Given the description of an element on the screen output the (x, y) to click on. 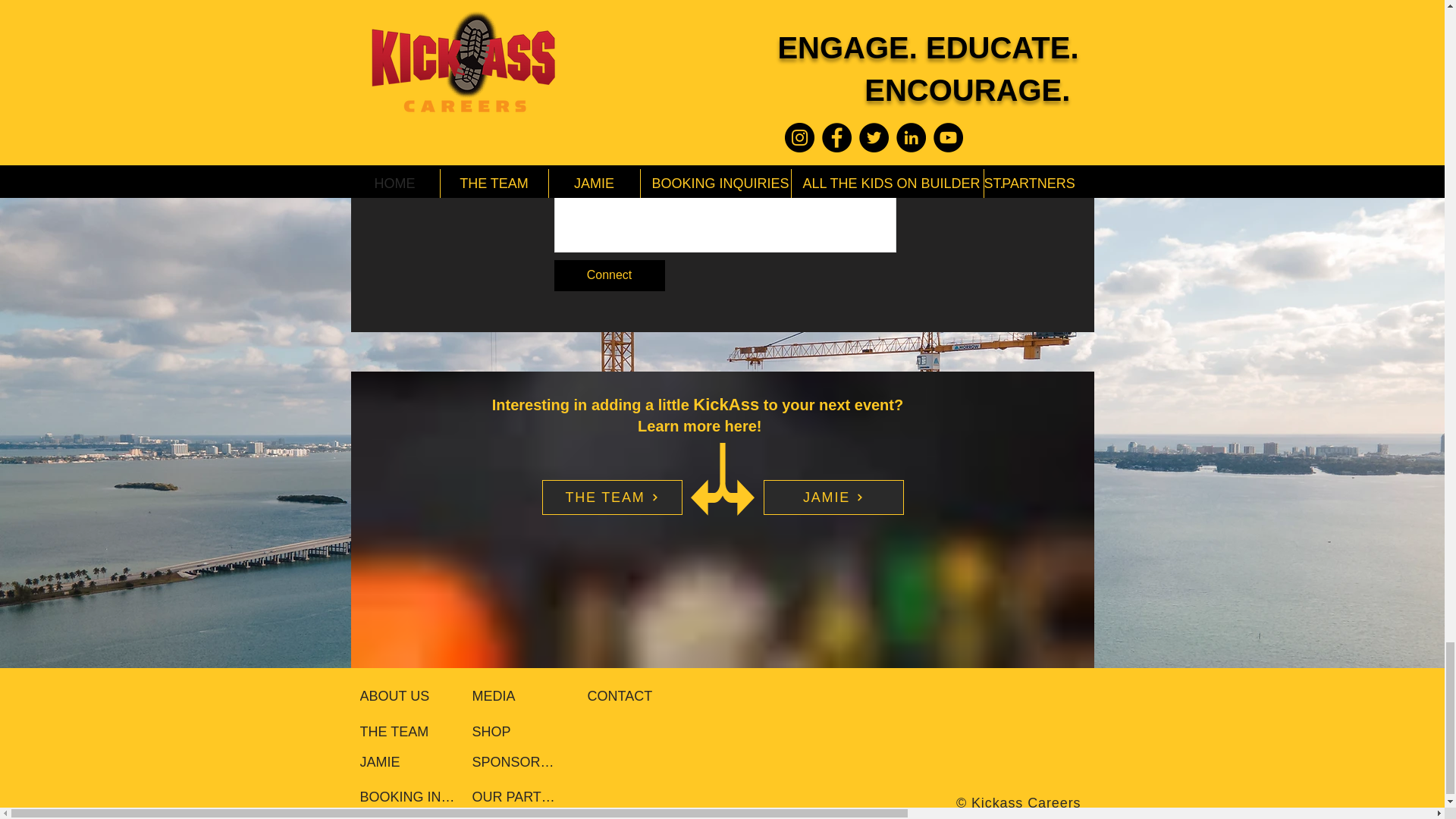
CONTACT (640, 695)
THE TEAM (402, 731)
MEDIA (524, 695)
SPONSORSHIP (516, 761)
ABOUT US (419, 695)
OUR PARTNERS (516, 797)
SHOP (524, 731)
THE TEAM (611, 497)
JAMIE (832, 497)
JAMIE (412, 761)
BOOKING INQUIRIES (409, 797)
Connect (608, 275)
